Given the description of an element on the screen output the (x, y) to click on. 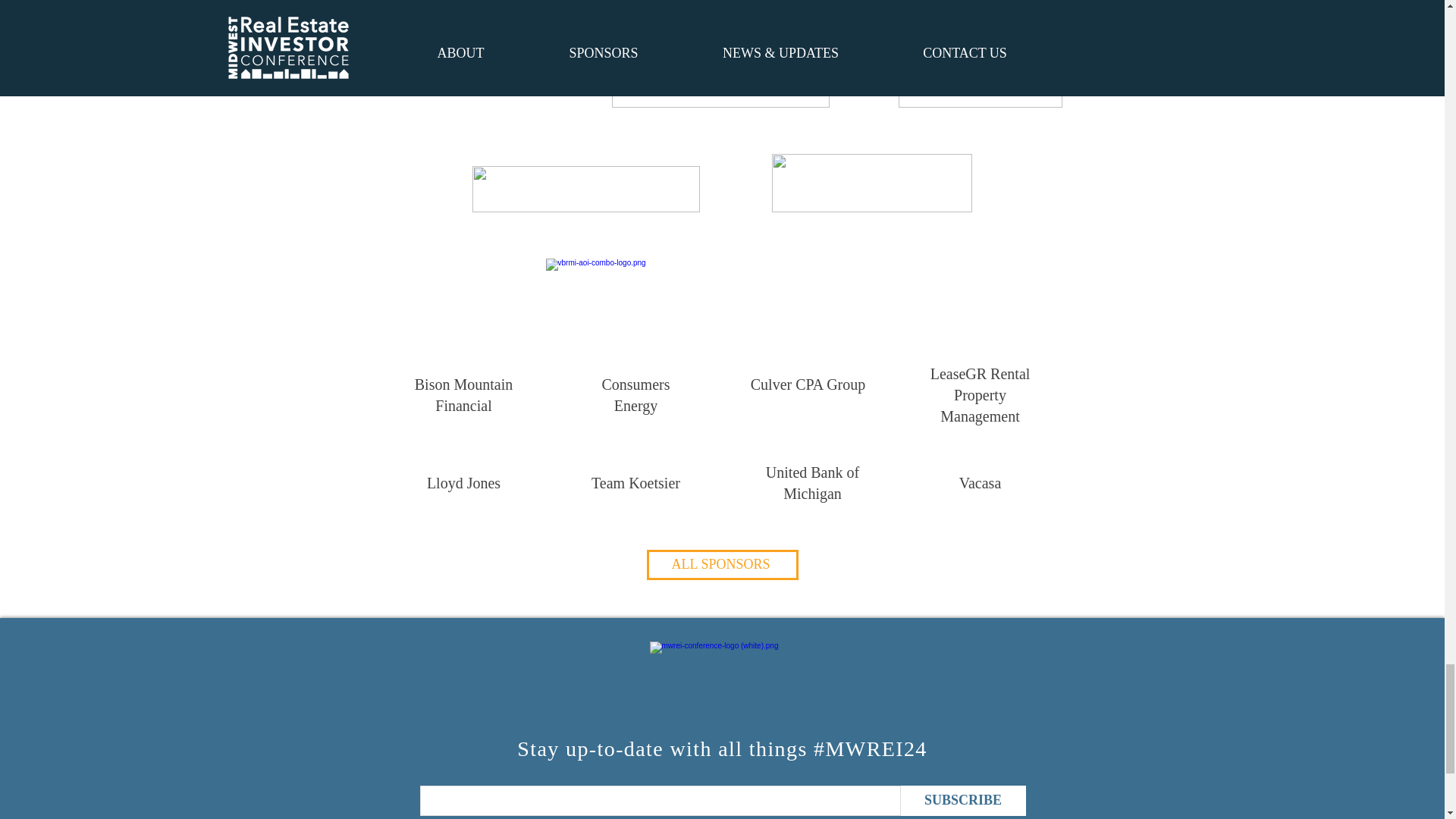
Culver CPA Group (808, 384)
Lloyd Jones (463, 483)
Bison Mountain Financial (463, 394)
ALL SPONSORS (721, 564)
freaky-fast-hb.png (719, 73)
LeaseGR Rental Property Management (980, 395)
SUBSCRIBE (963, 800)
Vacasa (980, 483)
proper-insurance-01.png (584, 189)
Team Koetsier (635, 483)
Consumers Energy (635, 394)
United Bank of Michigan (812, 483)
